Given the description of an element on the screen output the (x, y) to click on. 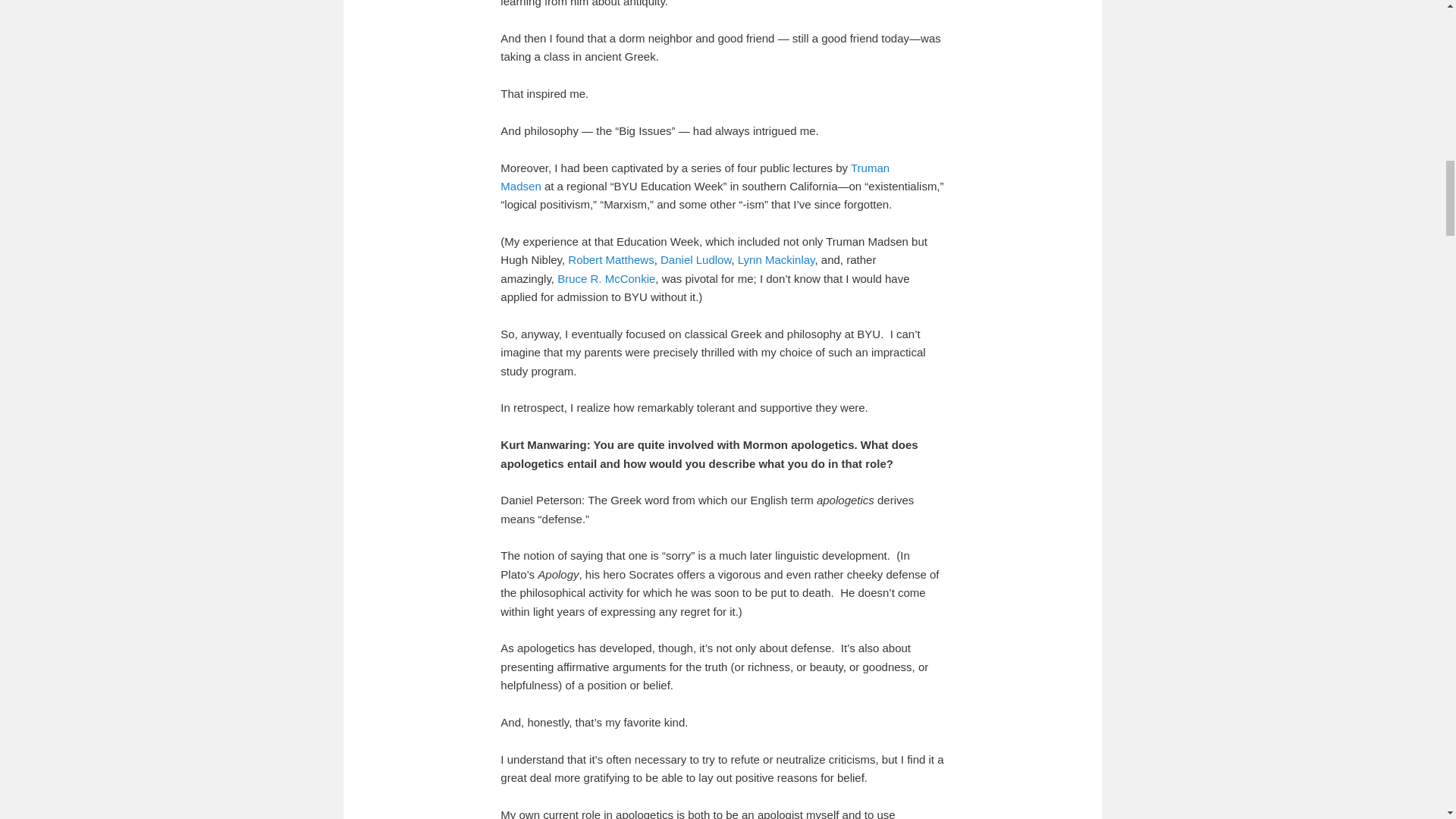
Robert Matthews (610, 259)
Daniel Ludlow (695, 259)
Truman Madsen (694, 175)
Lynn Mackinlay (776, 259)
Bruce R. McConkie (606, 278)
